Given the description of an element on the screen output the (x, y) to click on. 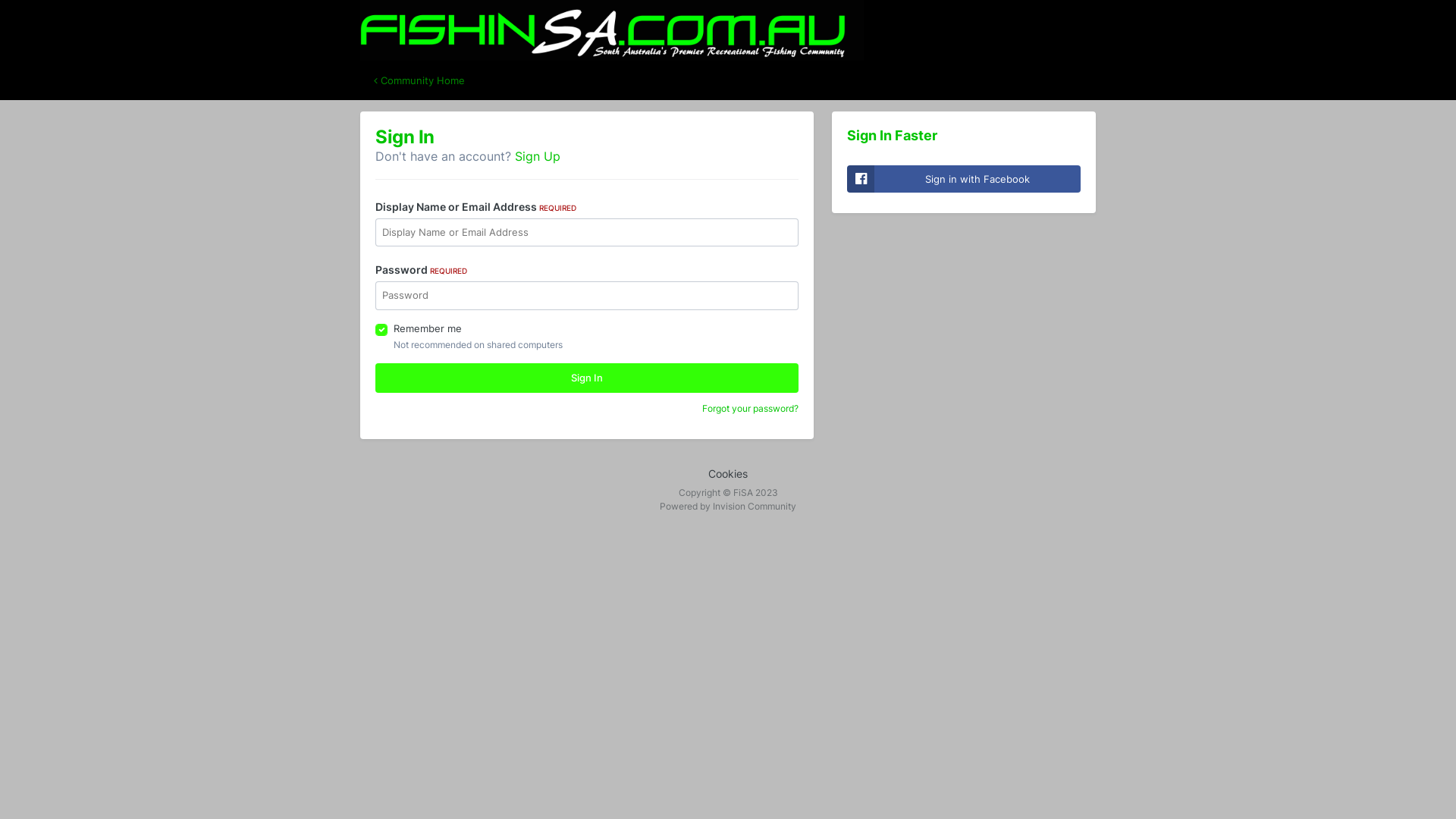
Sign in with Facebook Element type: text (963, 178)
Forgot your password? Element type: text (750, 408)
Sign In Element type: text (586, 377)
Sign Up Element type: text (537, 155)
Community Home Element type: text (419, 80)
Powered by Invision Community Element type: text (727, 505)
Cookies Element type: text (727, 473)
